Given the description of an element on the screen output the (x, y) to click on. 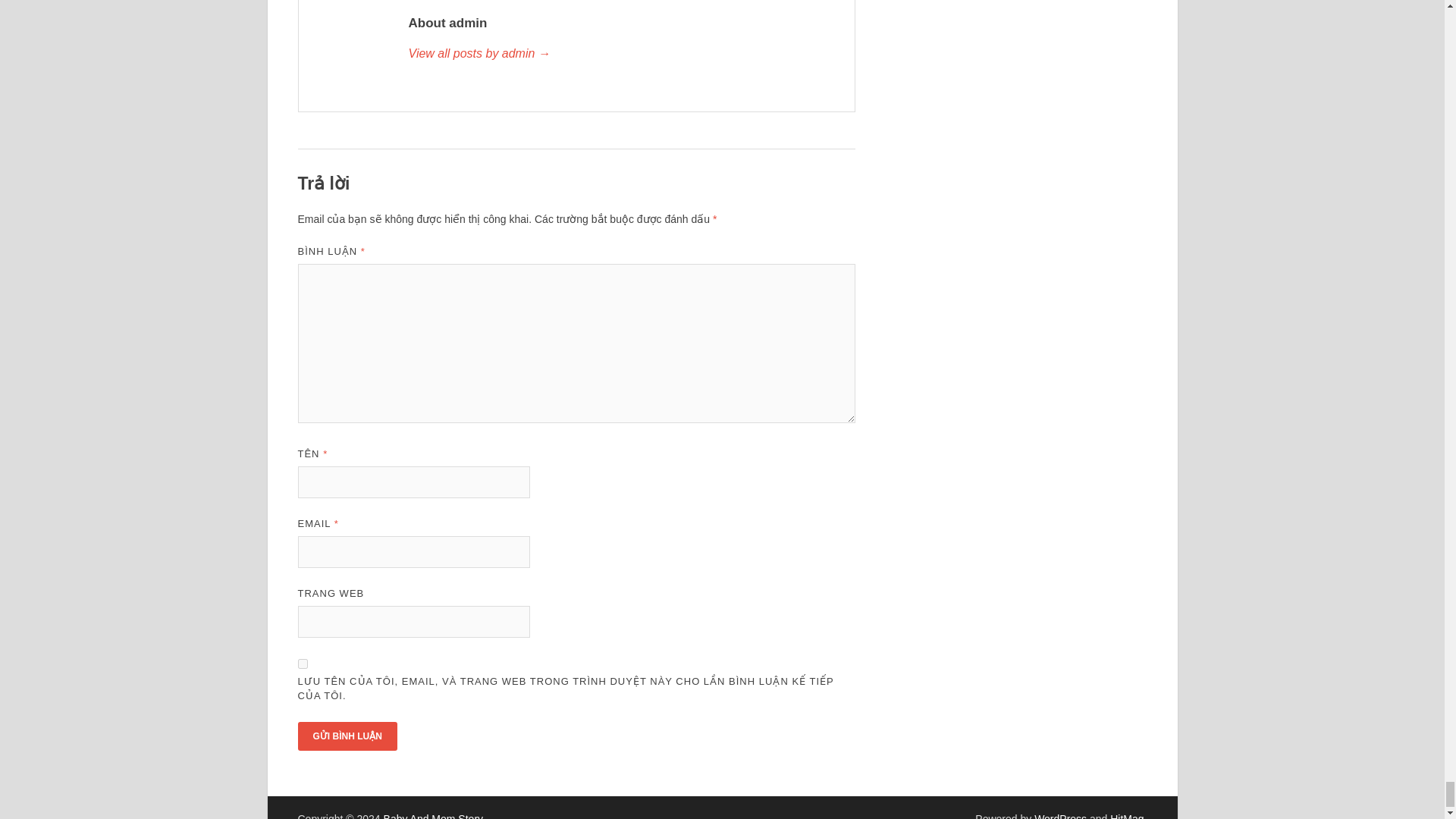
admin (622, 54)
yes (302, 664)
